Given the description of an element on the screen output the (x, y) to click on. 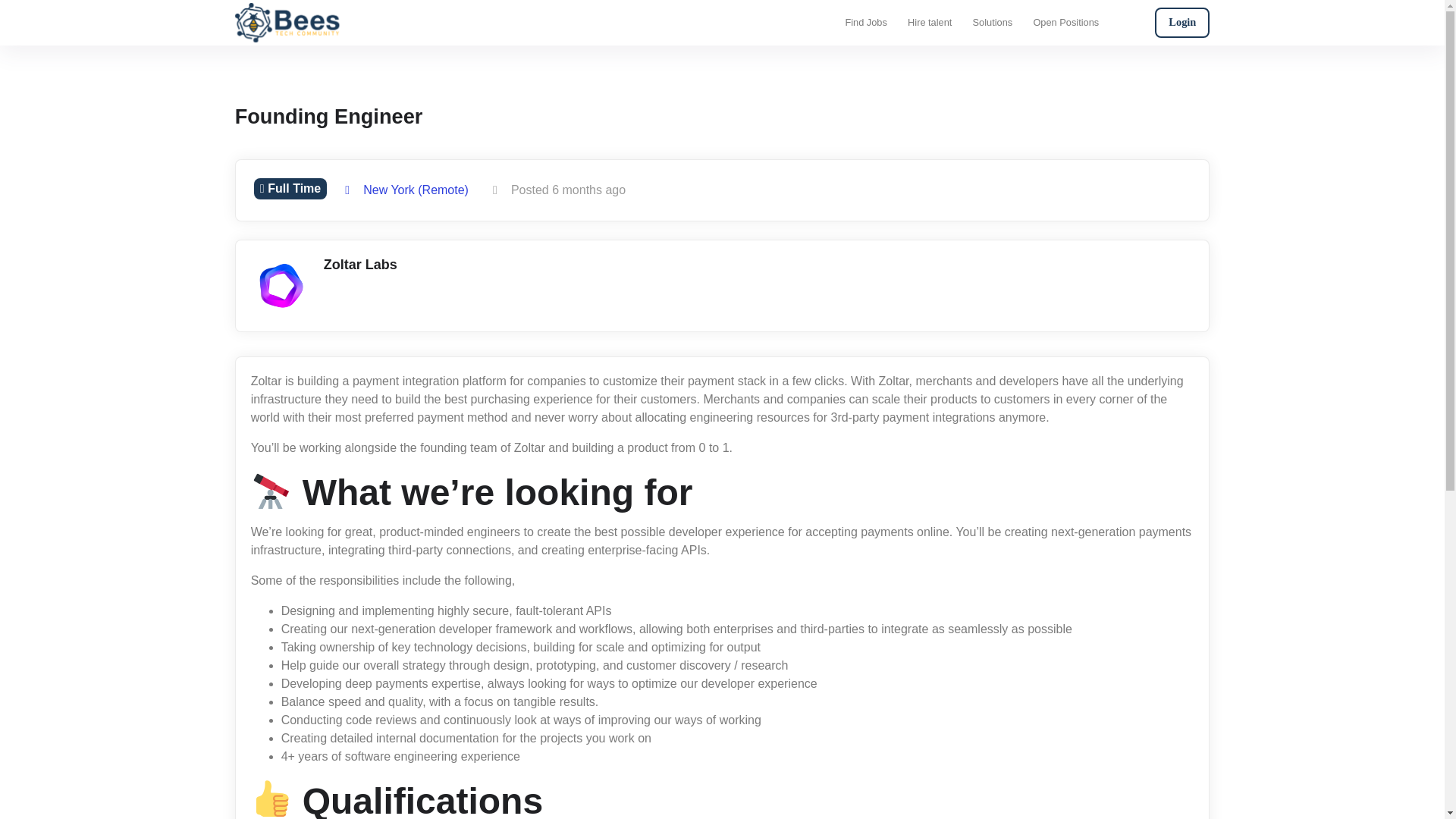
Login (1181, 22)
Open Positions (1065, 22)
Hire talent (929, 22)
Solutions (991, 22)
Find Jobs (865, 22)
